Given the description of an element on the screen output the (x, y) to click on. 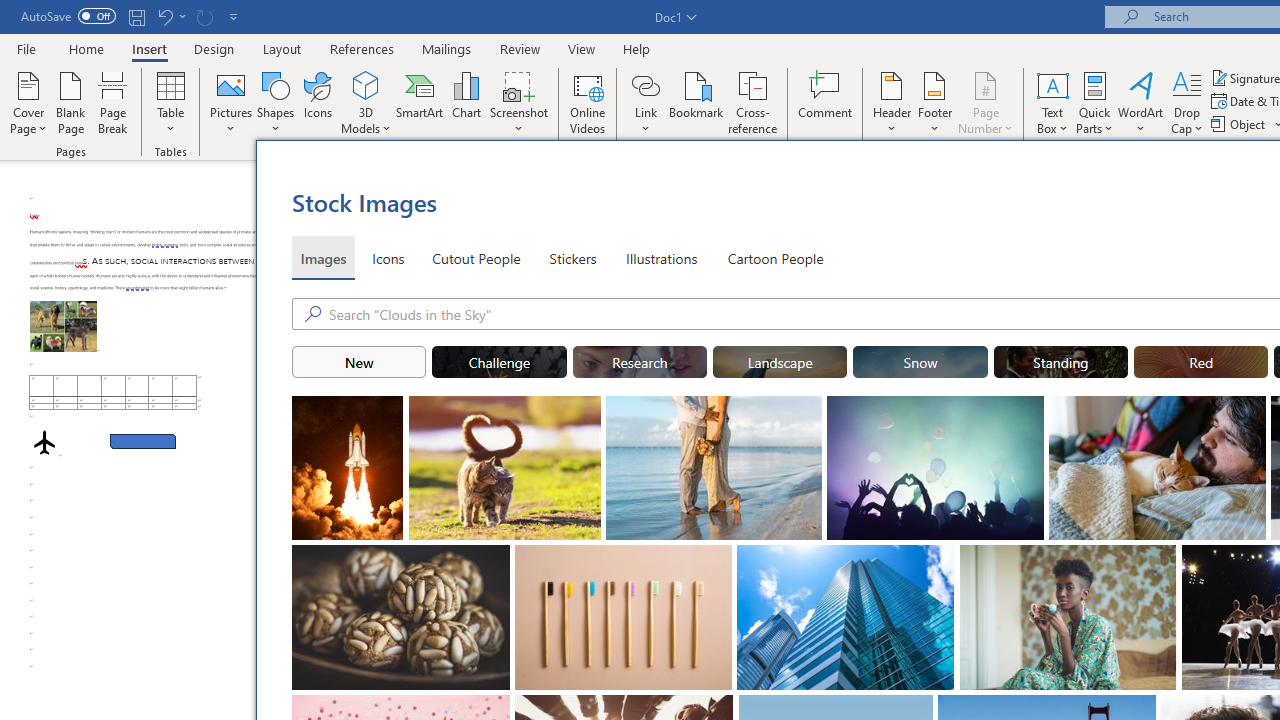
"Landscape" Stock Images. (779, 362)
Can't Repeat (204, 15)
Pictures (230, 102)
"Standing" Stock Images. (1060, 362)
System (10, 11)
Thumbnail (1161, 560)
Link (645, 102)
Object... (1240, 124)
Page Number (986, 102)
View (582, 48)
Home (86, 48)
3D Models (366, 102)
Link (645, 84)
AutoSave (68, 16)
